Given the description of an element on the screen output the (x, y) to click on. 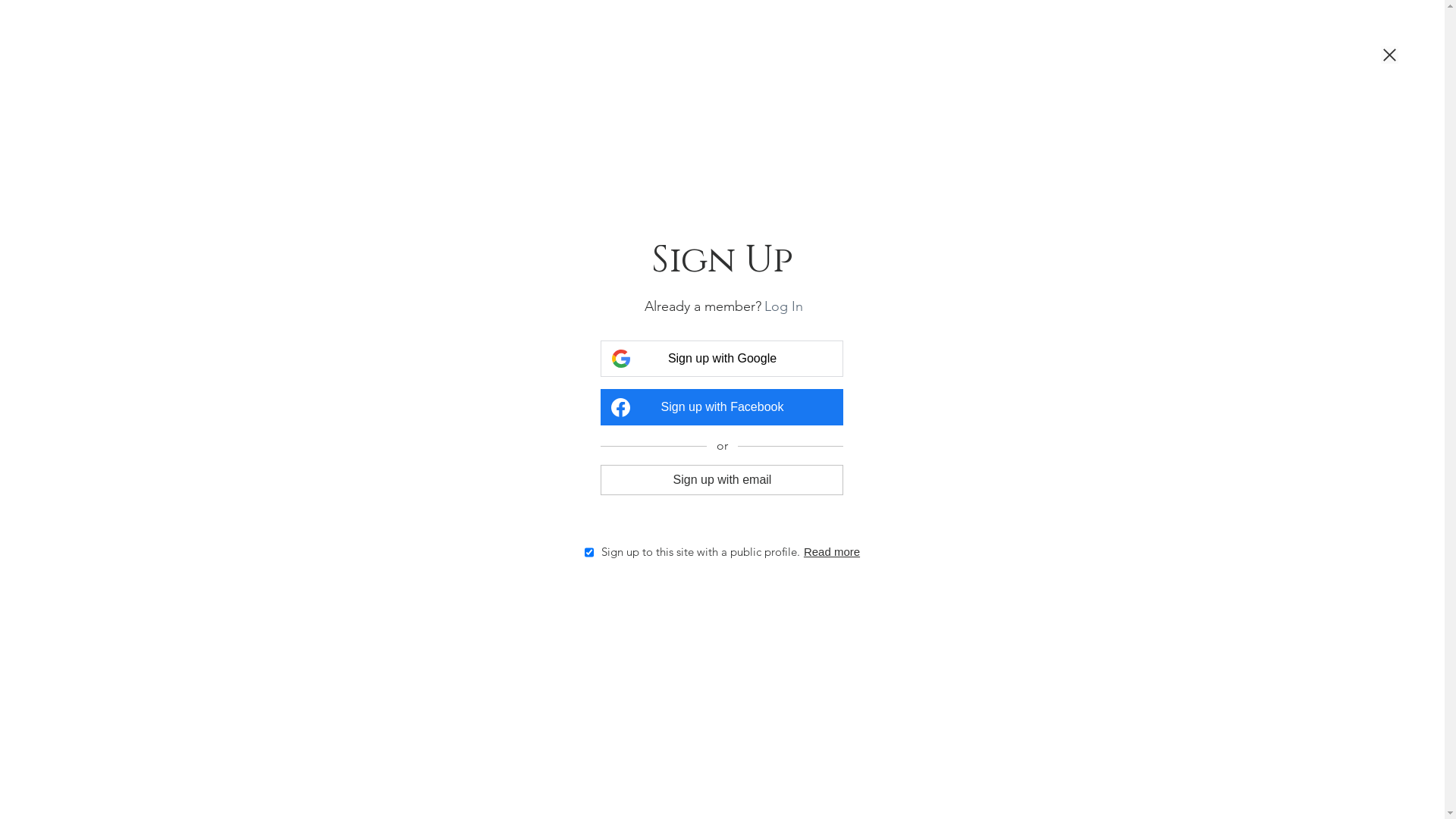
Sign up with email Element type: text (721, 479)
Sign up with Facebook Element type: text (721, 407)
Log In Element type: text (783, 306)
Read more Element type: text (831, 551)
Sign up with Google Element type: text (721, 358)
